Given the description of an element on the screen output the (x, y) to click on. 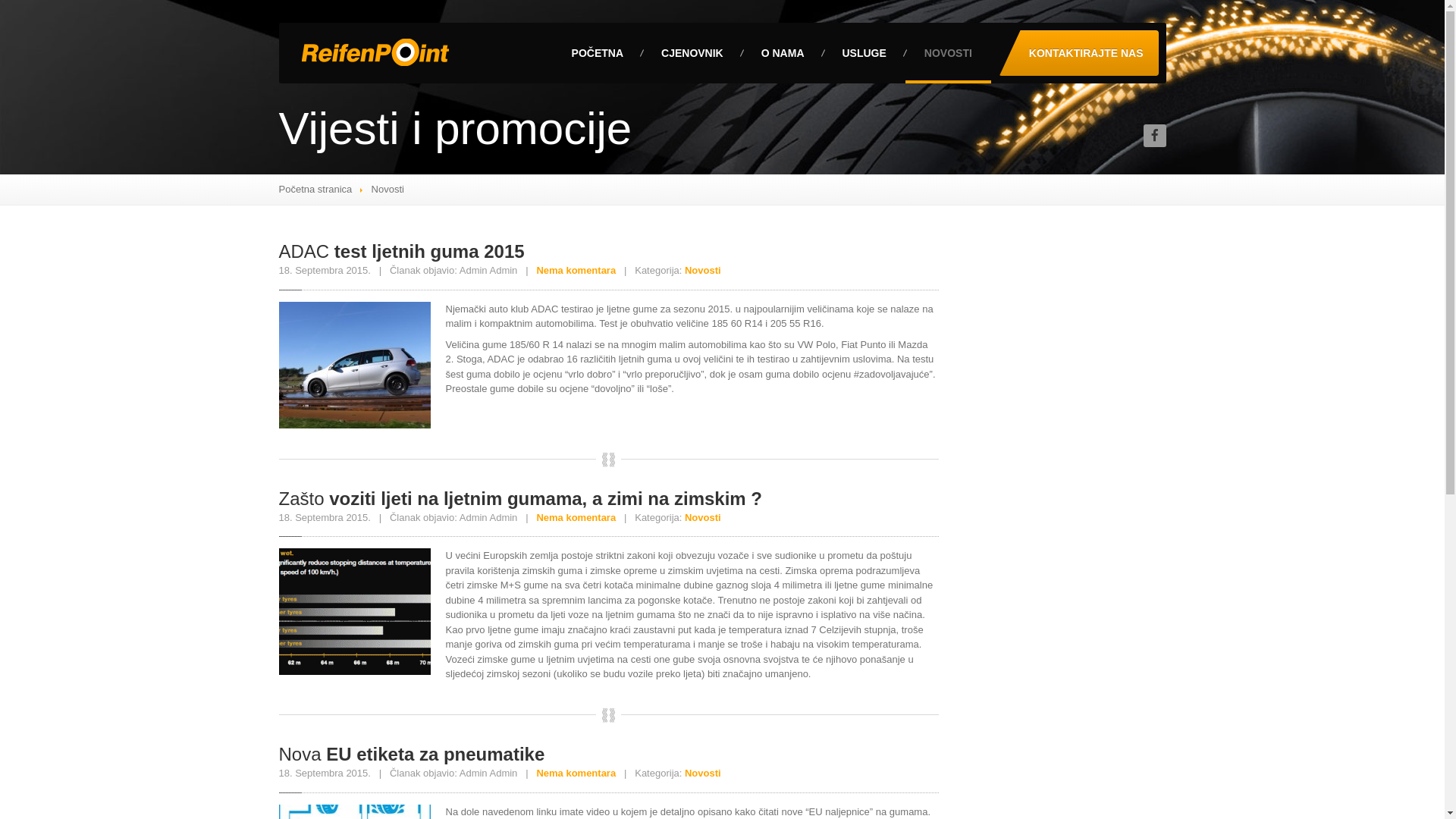
Novosti Element type: text (702, 517)
Nema komentara Element type: text (575, 517)
Nova EU etiketa za pneumatike Element type: text (412, 753)
ADAC test ljetnih guma 2015 Element type: text (401, 251)
Novosti Element type: text (702, 772)
Novosti Element type: text (702, 270)
Nema komentara Element type: text (575, 270)
CJENOVNIK Element type: text (692, 52)
Nema komentara Element type: text (575, 772)
NOVOSTI Element type: text (948, 52)
USLUGE Element type: text (864, 52)
KONTAKTIRAJTE NAS Element type: text (1078, 52)
O NAMA Element type: text (782, 52)
